Given the description of an element on the screen output the (x, y) to click on. 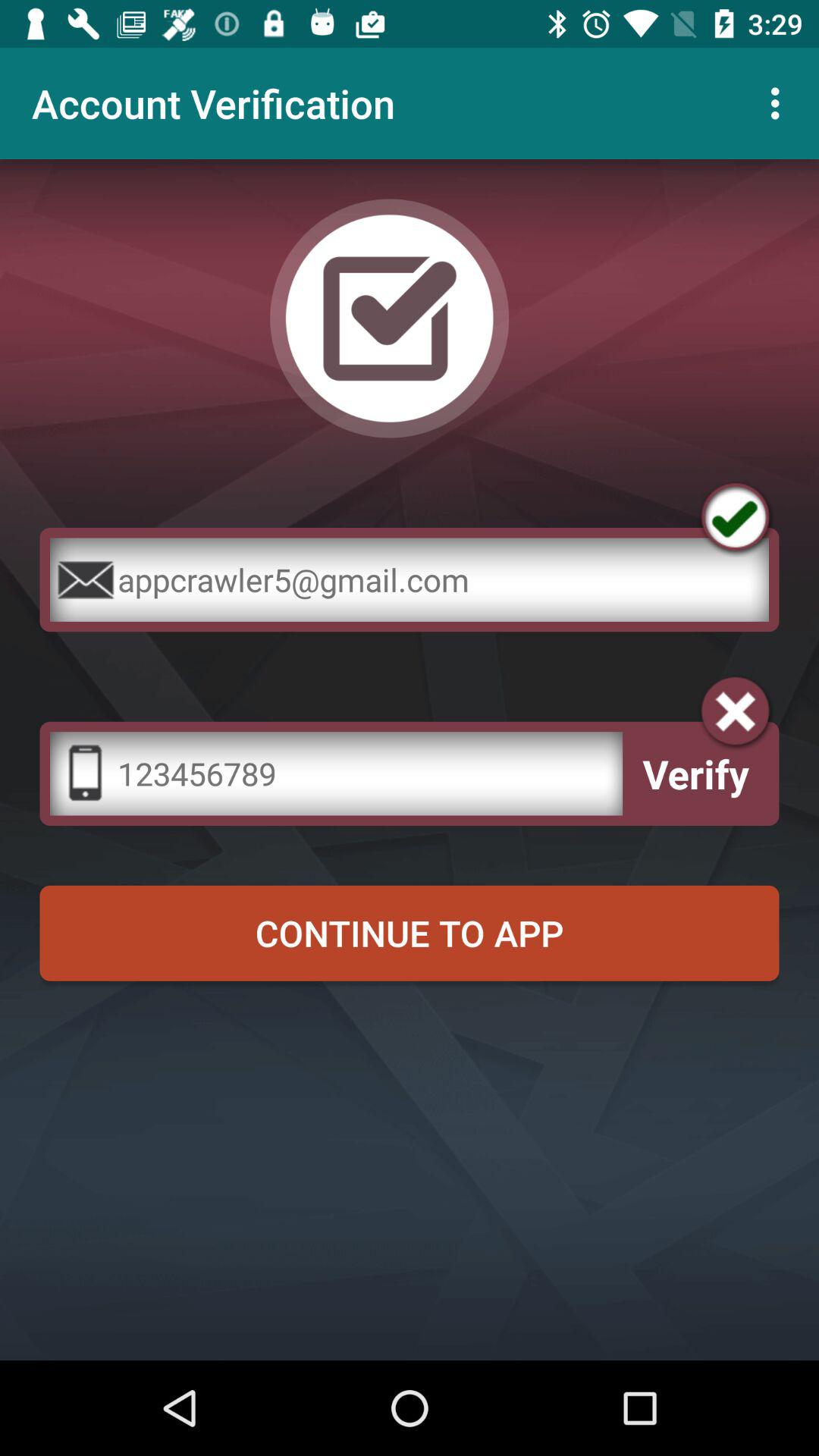
turn off item next to the account verification (779, 103)
